Given the description of an element on the screen output the (x, y) to click on. 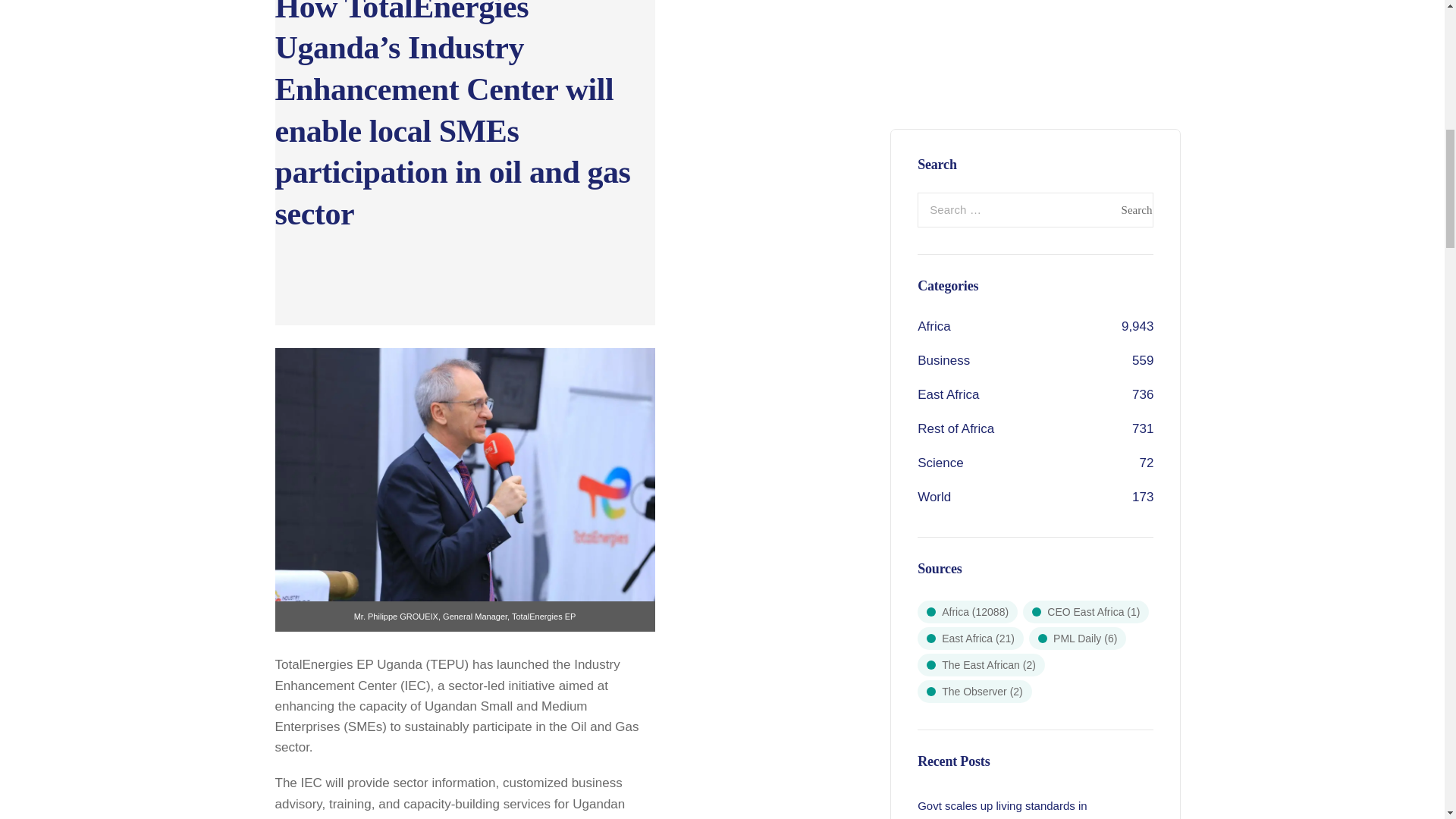
Africa (933, 56)
East Africa (947, 124)
Business (943, 90)
Rest of Africa (955, 158)
World (933, 227)
Science (939, 192)
